Given the description of an element on the screen output the (x, y) to click on. 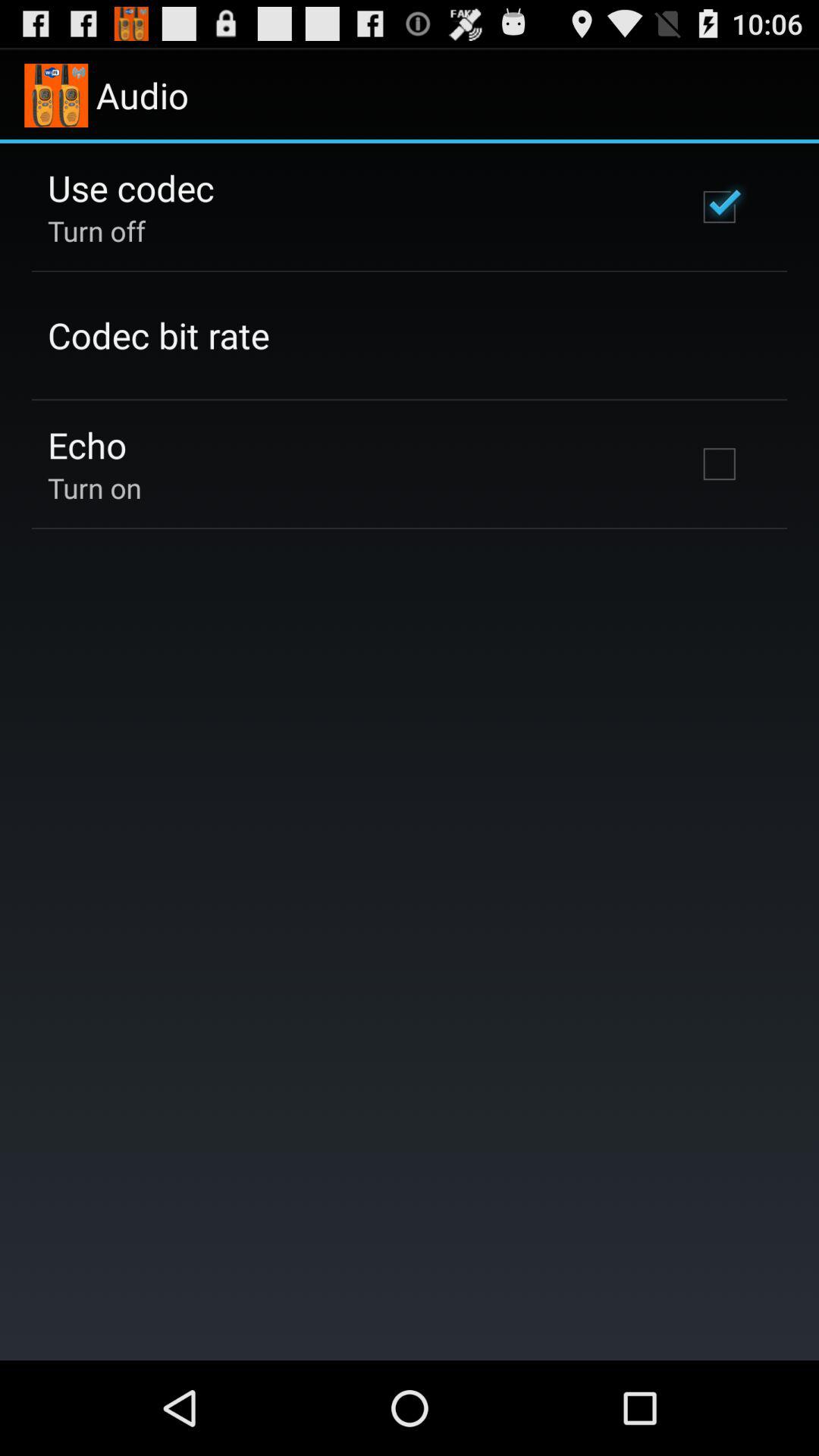
select the item below the echo (94, 487)
